Given the description of an element on the screen output the (x, y) to click on. 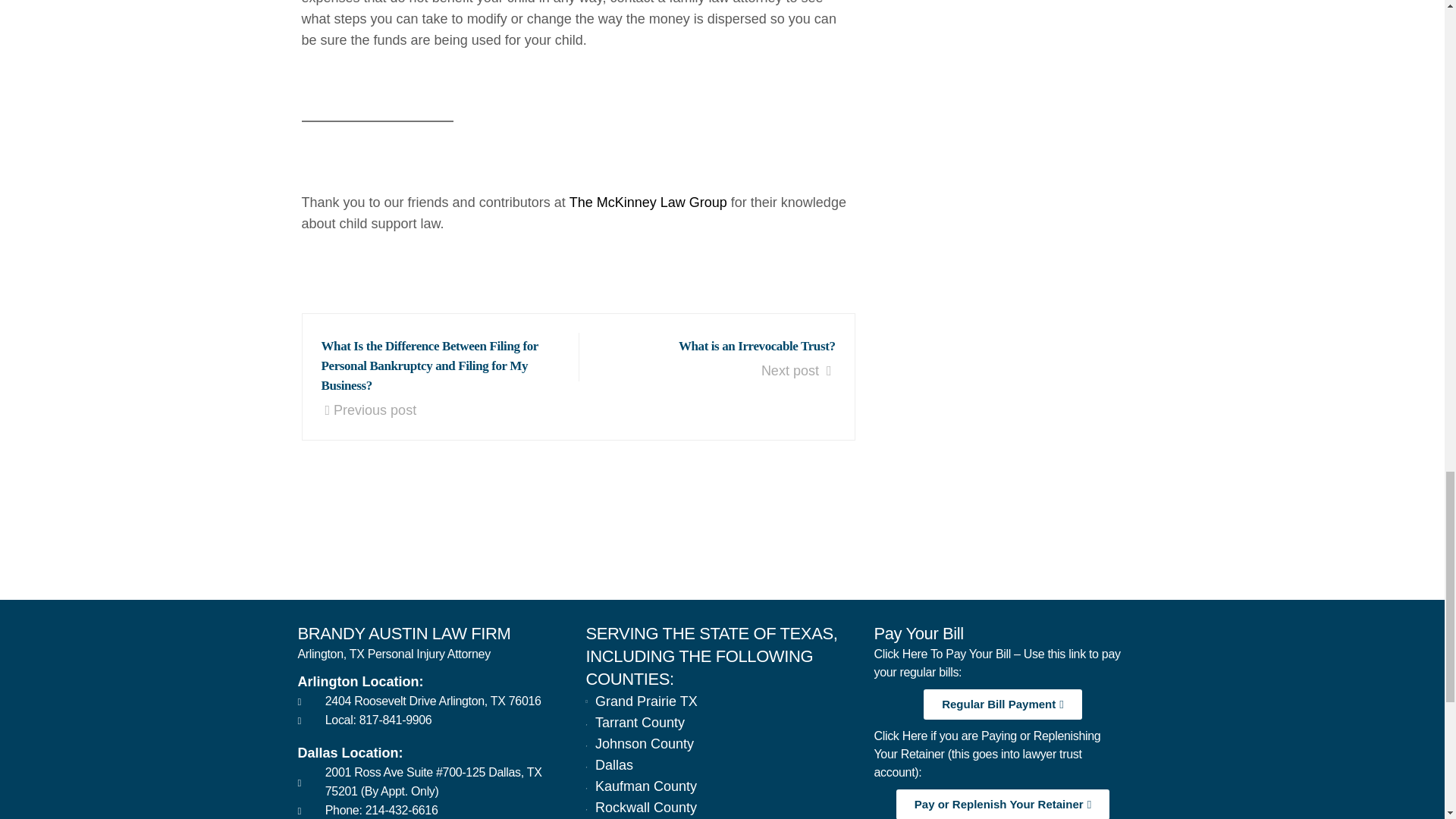
Super Lawyers (619, 534)
Avvo Rating - Top Attorney (380, 534)
NAELA (1097, 534)
American Institution of Legal Counsel (858, 534)
